Given the description of an element on the screen output the (x, y) to click on. 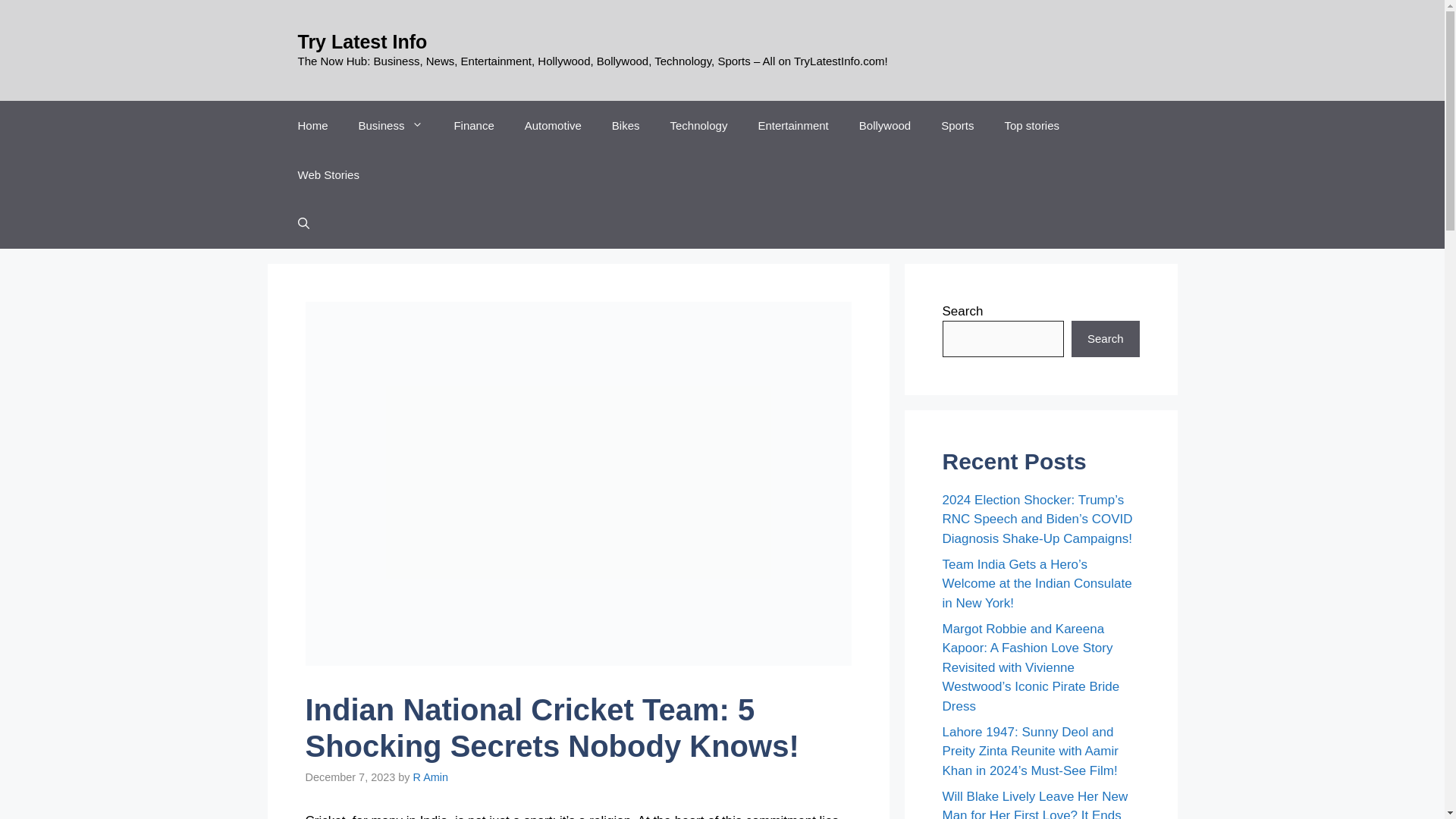
Web Stories (328, 174)
Try Latest Info (361, 41)
Technology (698, 124)
Entertainment (792, 124)
Automotive (552, 124)
R Amin (430, 776)
Top stories (1032, 124)
Bikes (625, 124)
Bollywood (885, 124)
View all posts by R Amin (430, 776)
Business (391, 124)
Sports (957, 124)
Home (312, 124)
Finance (473, 124)
